Given the description of an element on the screen output the (x, y) to click on. 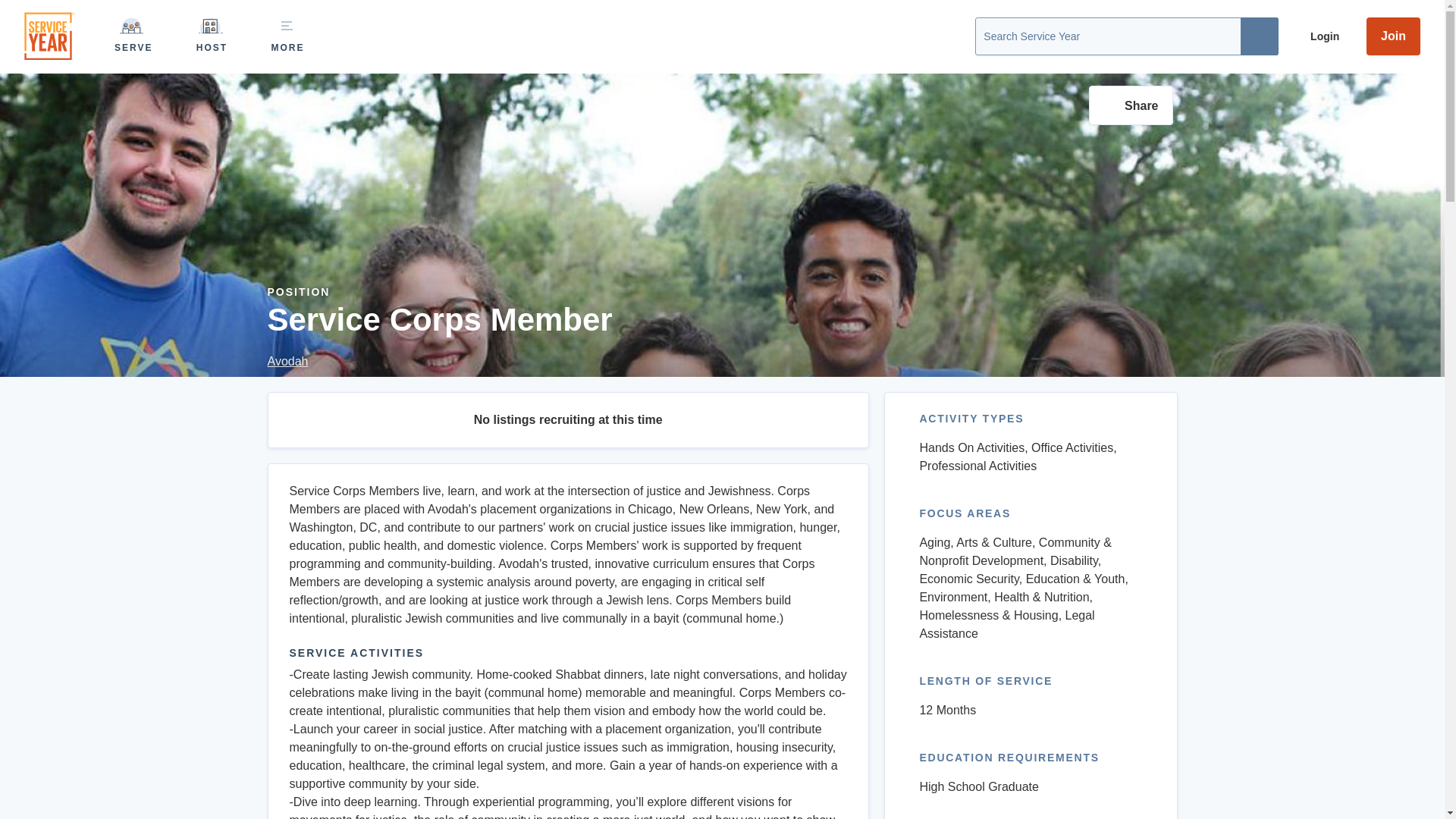
Share (1131, 105)
Avodah (438, 361)
Search (1259, 36)
Login (1319, 36)
Join (1393, 36)
